Given the description of an element on the screen output the (x, y) to click on. 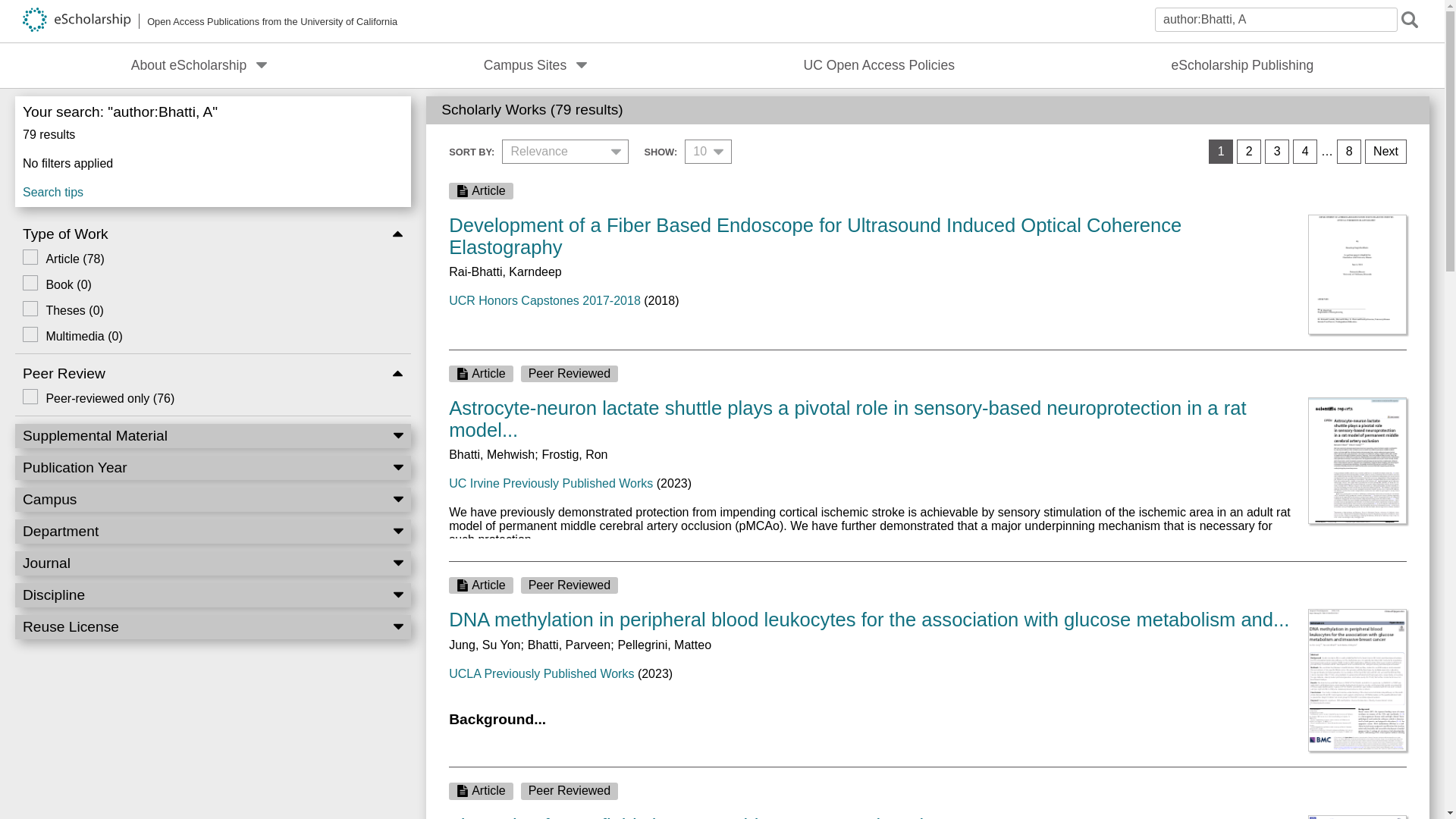
author:Bhatti, A (1275, 19)
UC Open Access Policies (879, 65)
eScholarship Publishing (1241, 65)
author:Bhatti, A (1275, 19)
Next (1385, 151)
1 (1220, 151)
Open Access Publications from the University of California (210, 21)
4 (1304, 151)
3 (1276, 151)
8 (1348, 151)
2 (1248, 151)
Search tips (213, 188)
